Given the description of an element on the screen output the (x, y) to click on. 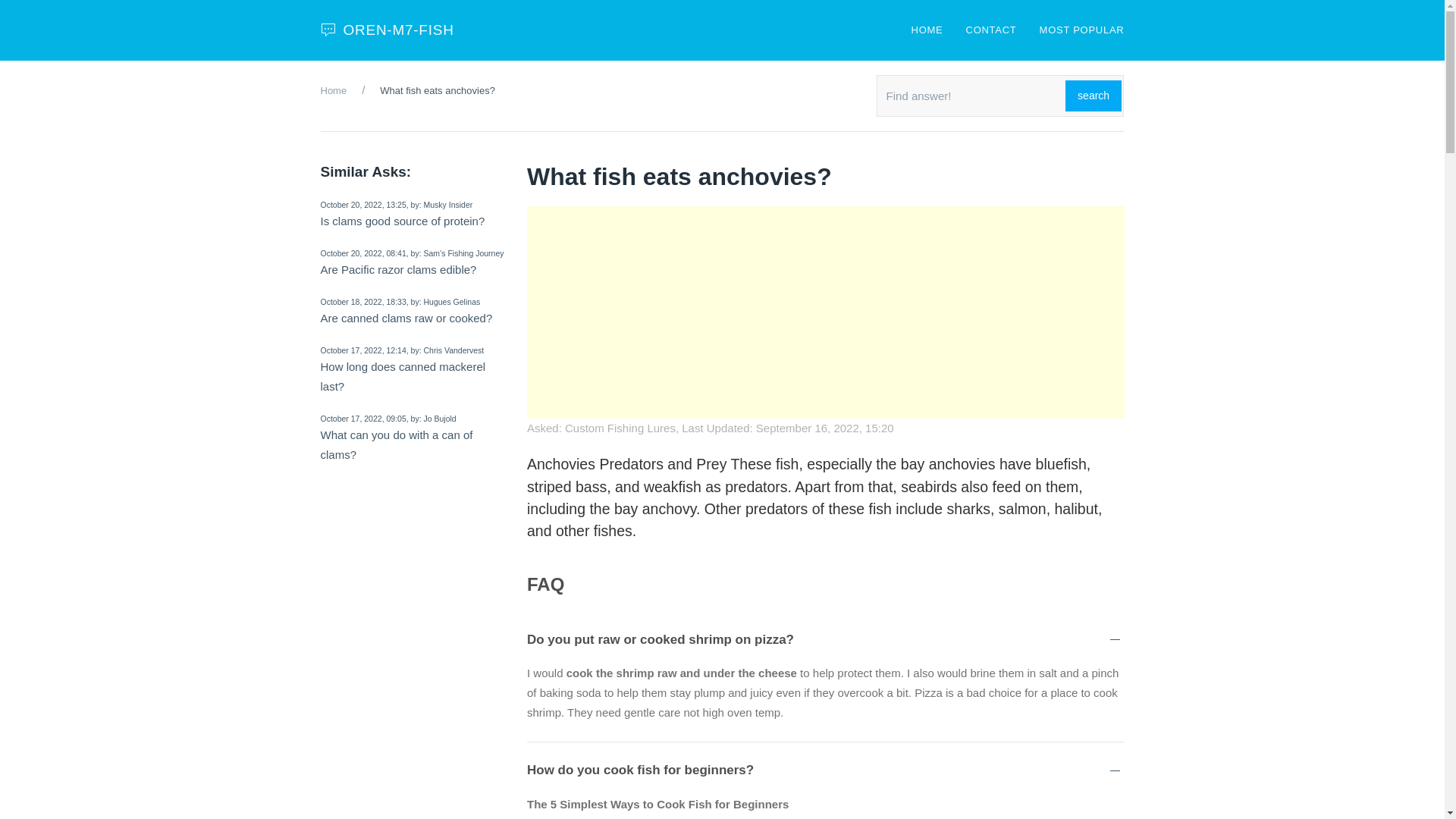
Is clams good source of protein? (402, 220)
search (1093, 96)
OREN-M7-FISH (386, 30)
Is clams good source of protein? (402, 220)
Advertisement (825, 312)
Are Pacific razor clams edible? (398, 269)
Are canned clams raw or cooked? (406, 318)
Are canned clams raw or cooked? (406, 318)
How long does canned mackerel last? (402, 376)
What can you do with a can of clams? (395, 444)
